Given the description of an element on the screen output the (x, y) to click on. 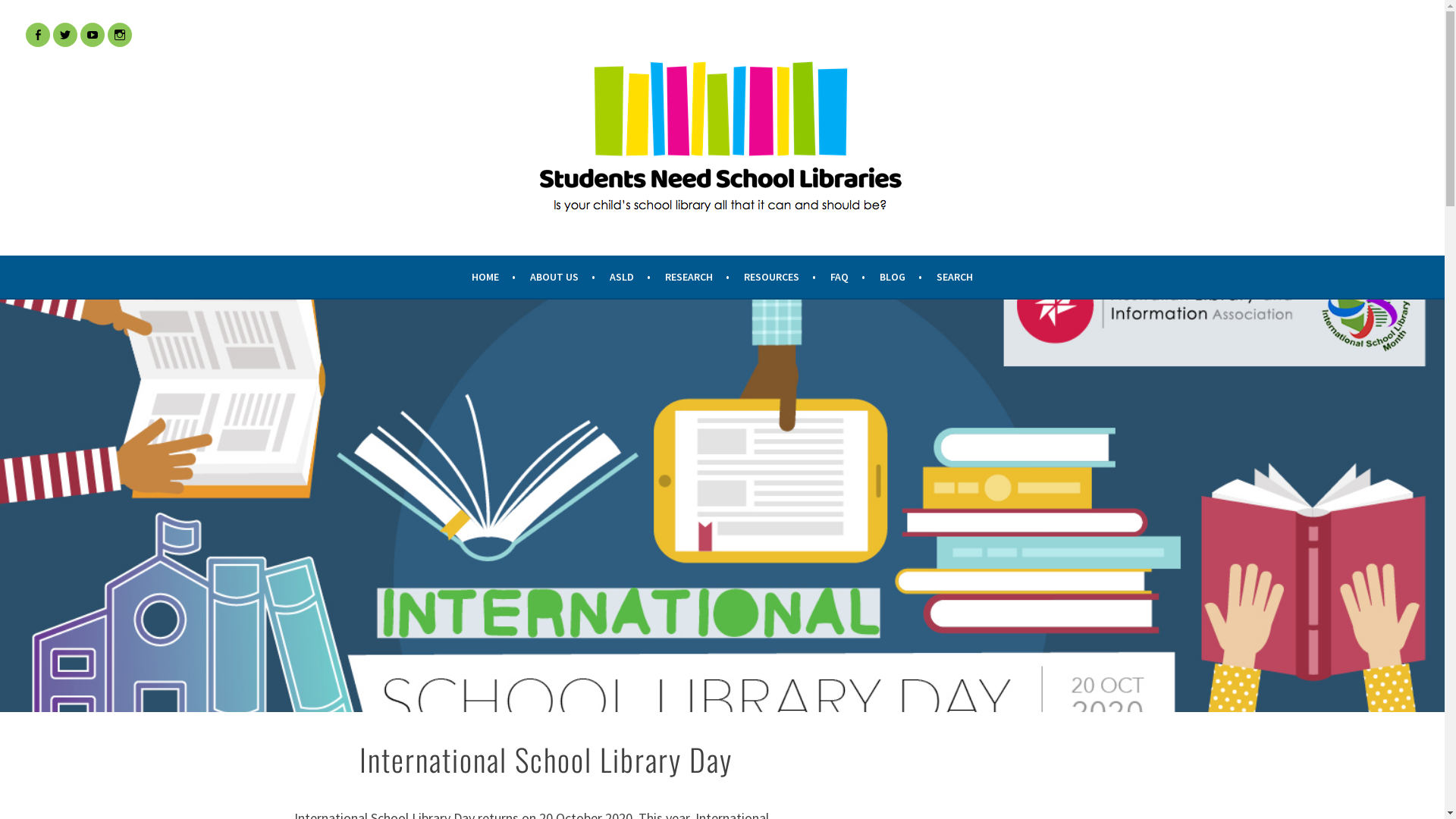
RESOURCES Element type: text (779, 276)
YOUTUBE Element type: text (92, 34)
FACEBOOK Element type: text (37, 34)
ABOUT US Element type: text (562, 276)
SEARCH Element type: text (954, 276)
INSTAGRAM Element type: text (119, 34)
BLOG Element type: text (900, 276)
HOME Element type: text (493, 276)
STUDENTS NEED SCHOOL LIBRARIES Element type: text (264, 264)
FAQ Element type: text (847, 276)
TWITTER Element type: text (65, 34)
RESEARCH Element type: text (697, 276)
Search Element type: text (27, 13)
ASLD Element type: text (629, 276)
